Given the description of an element on the screen output the (x, y) to click on. 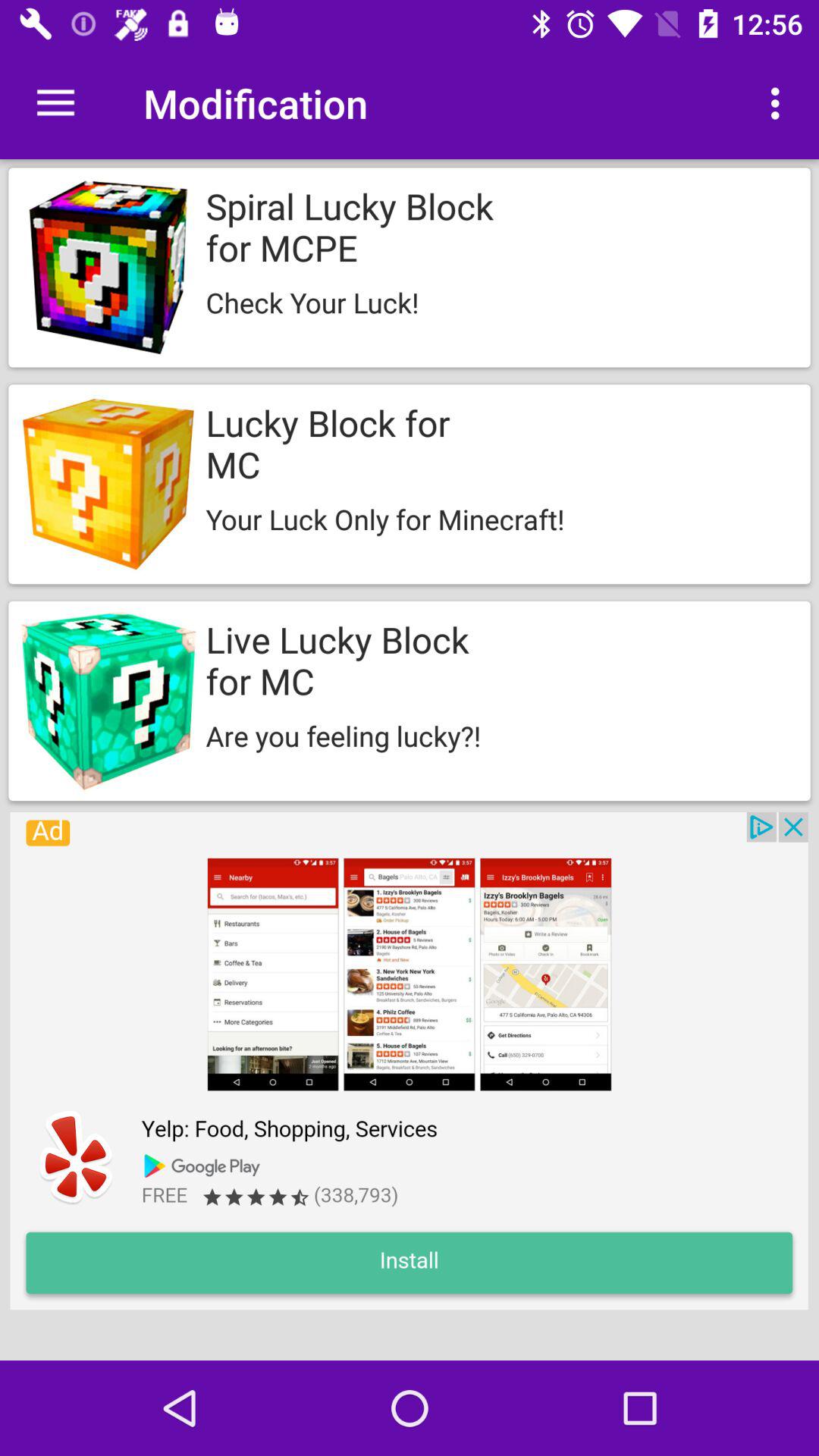
click on advertisement (409, 1060)
